Given the description of an element on the screen output the (x, y) to click on. 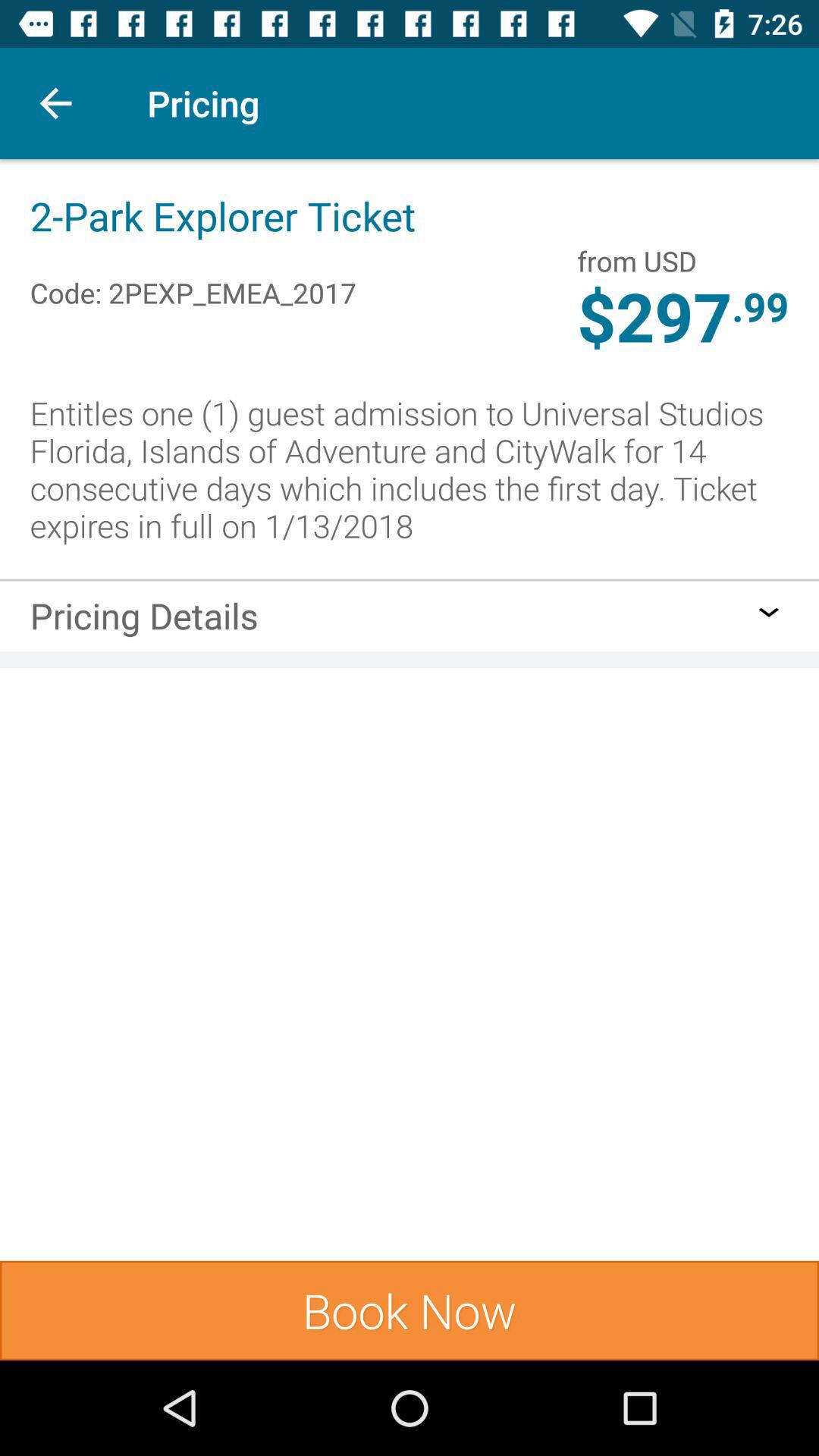
toggle drop down option (768, 612)
